Given the description of an element on the screen output the (x, y) to click on. 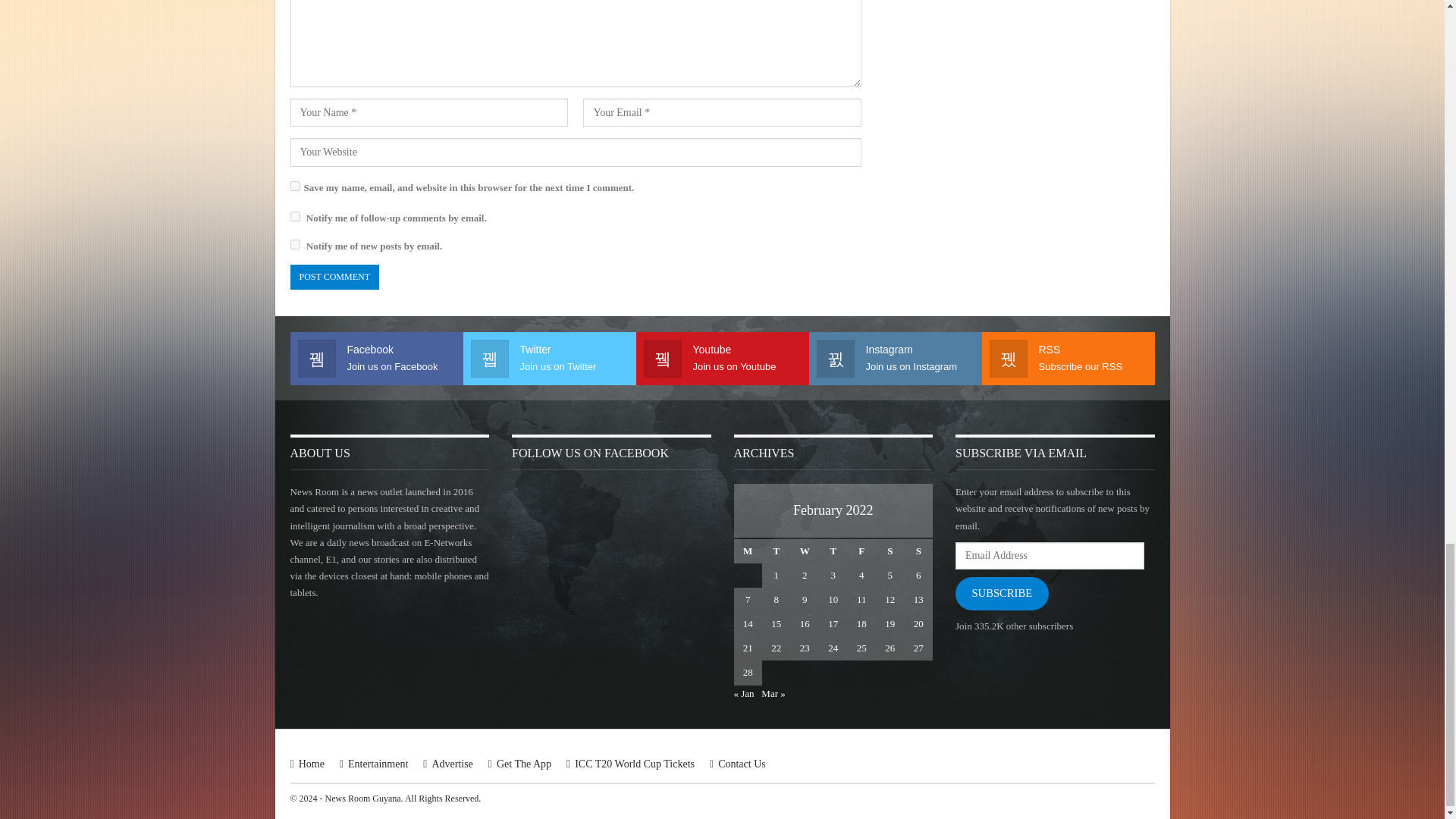
subscribe (294, 216)
Post Comment (333, 276)
yes (294, 185)
subscribe (294, 244)
